Given the description of an element on the screen output the (x, y) to click on. 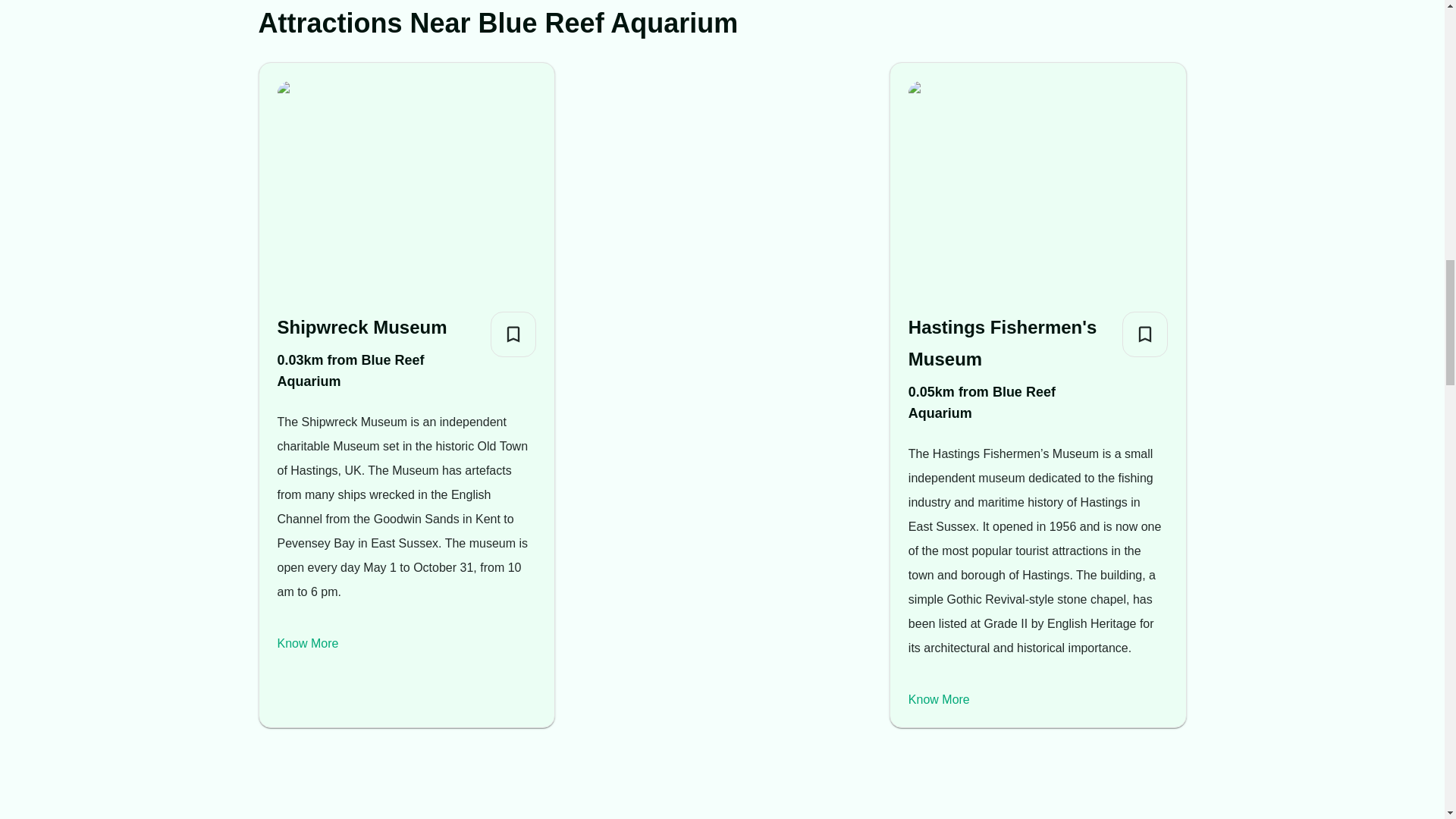
Know More (308, 643)
Add to Bucket List (512, 334)
Hastings Fishermen's Museum (1008, 343)
Know More (938, 698)
Add to Bucket List (1144, 334)
Shipwreck Museum (378, 327)
